Given the description of an element on the screen output the (x, y) to click on. 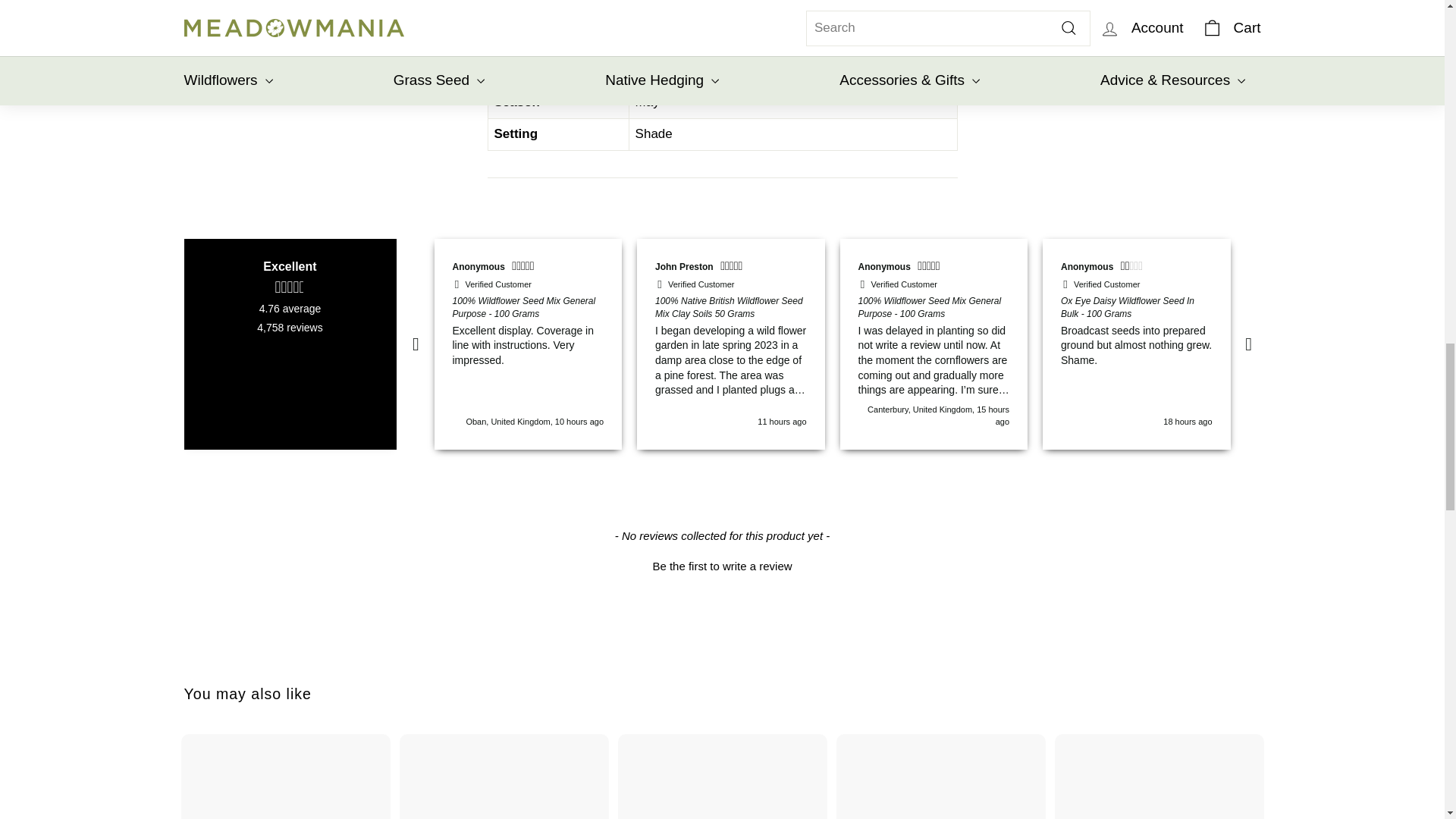
4 Stars (1347, 268)
Read more reviews on REVIEWS.io (289, 384)
5 Stars (930, 268)
5 Stars (524, 268)
5 Stars (732, 268)
4.76 Stars (289, 287)
2 Stars (1134, 268)
